Given the description of an element on the screen output the (x, y) to click on. 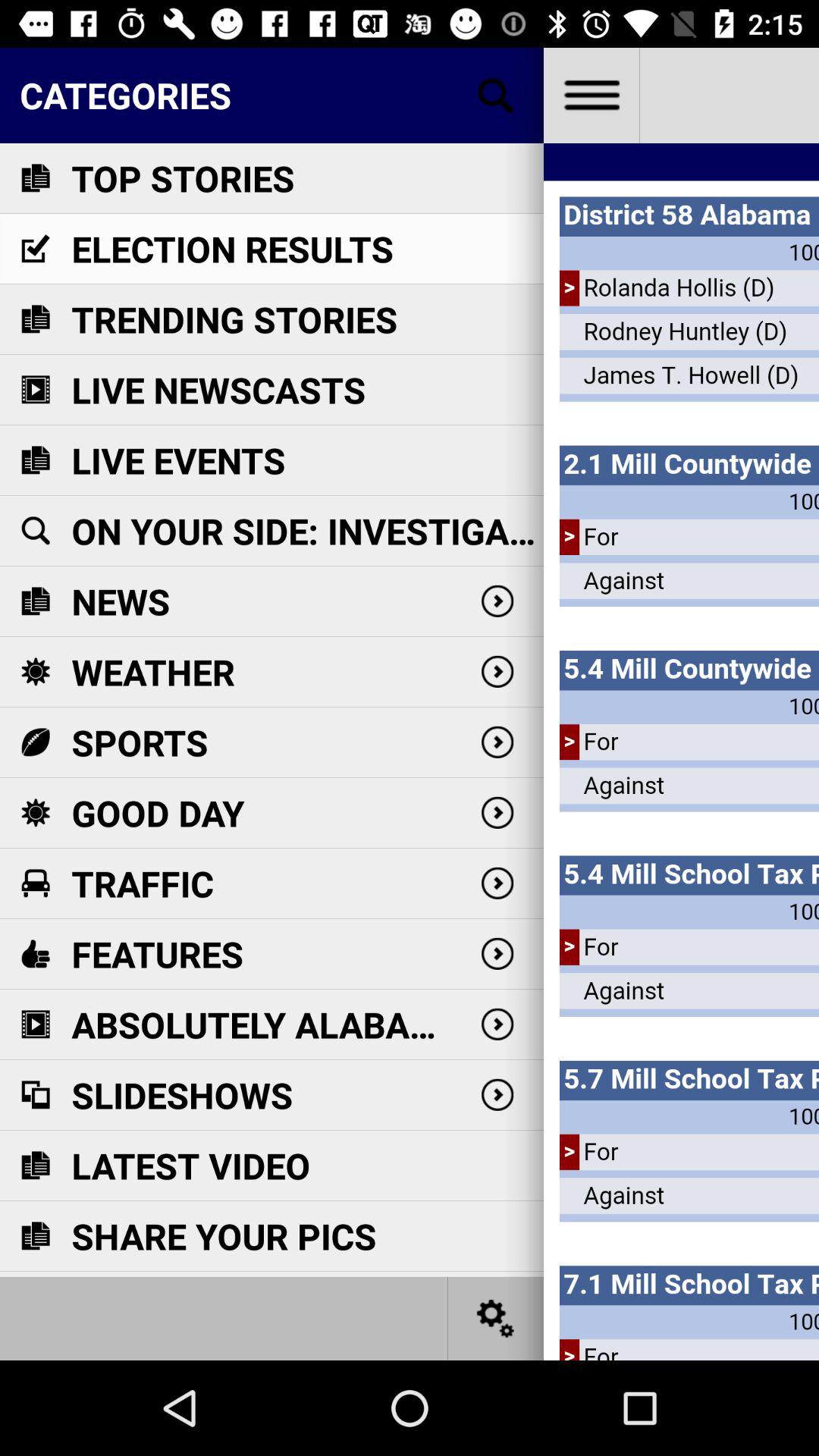
menu options (591, 95)
